Given the description of an element on the screen output the (x, y) to click on. 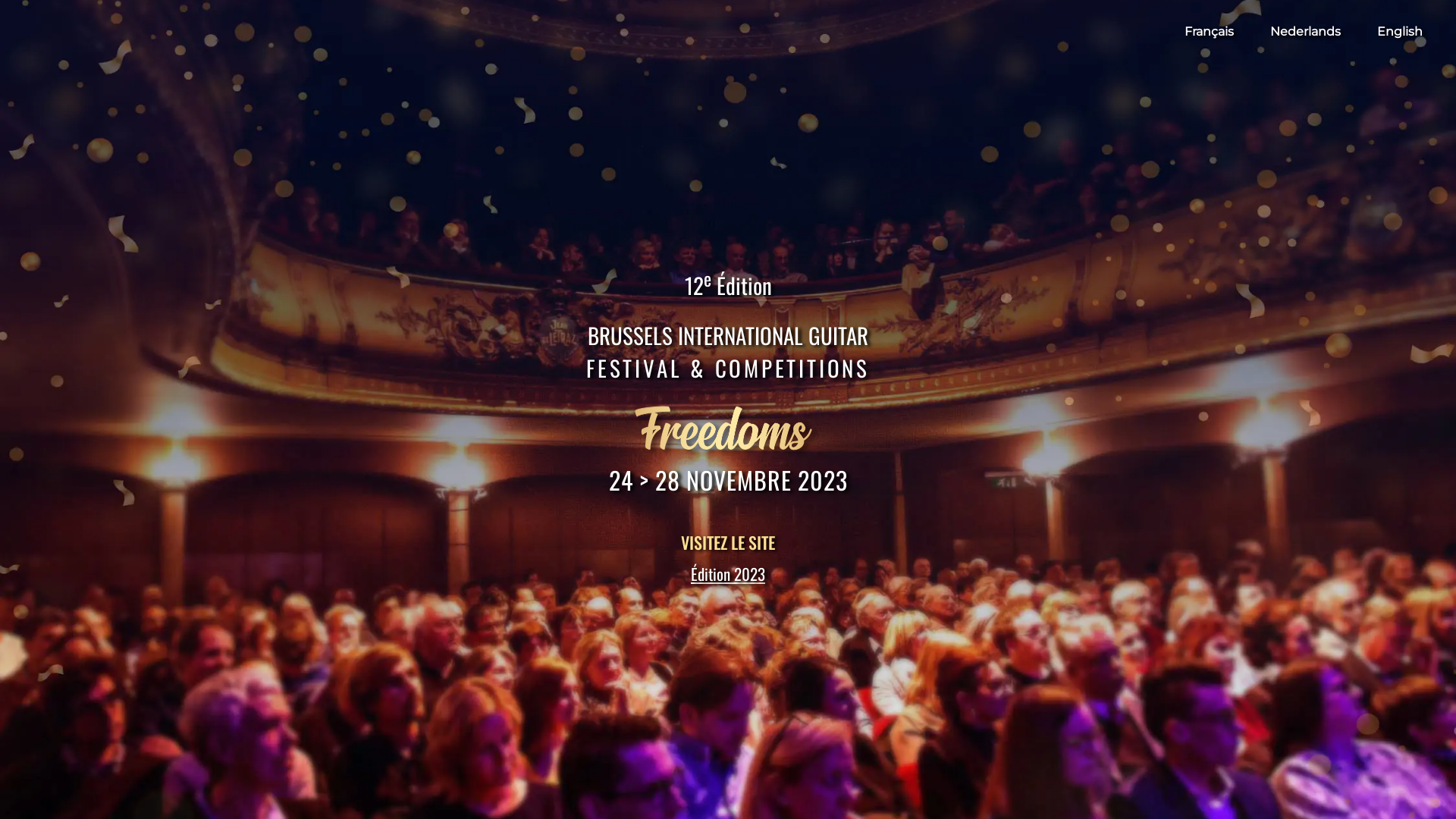
English Element type: text (1399, 31)
Nederlands Element type: text (1305, 31)
